Given the description of an element on the screen output the (x, y) to click on. 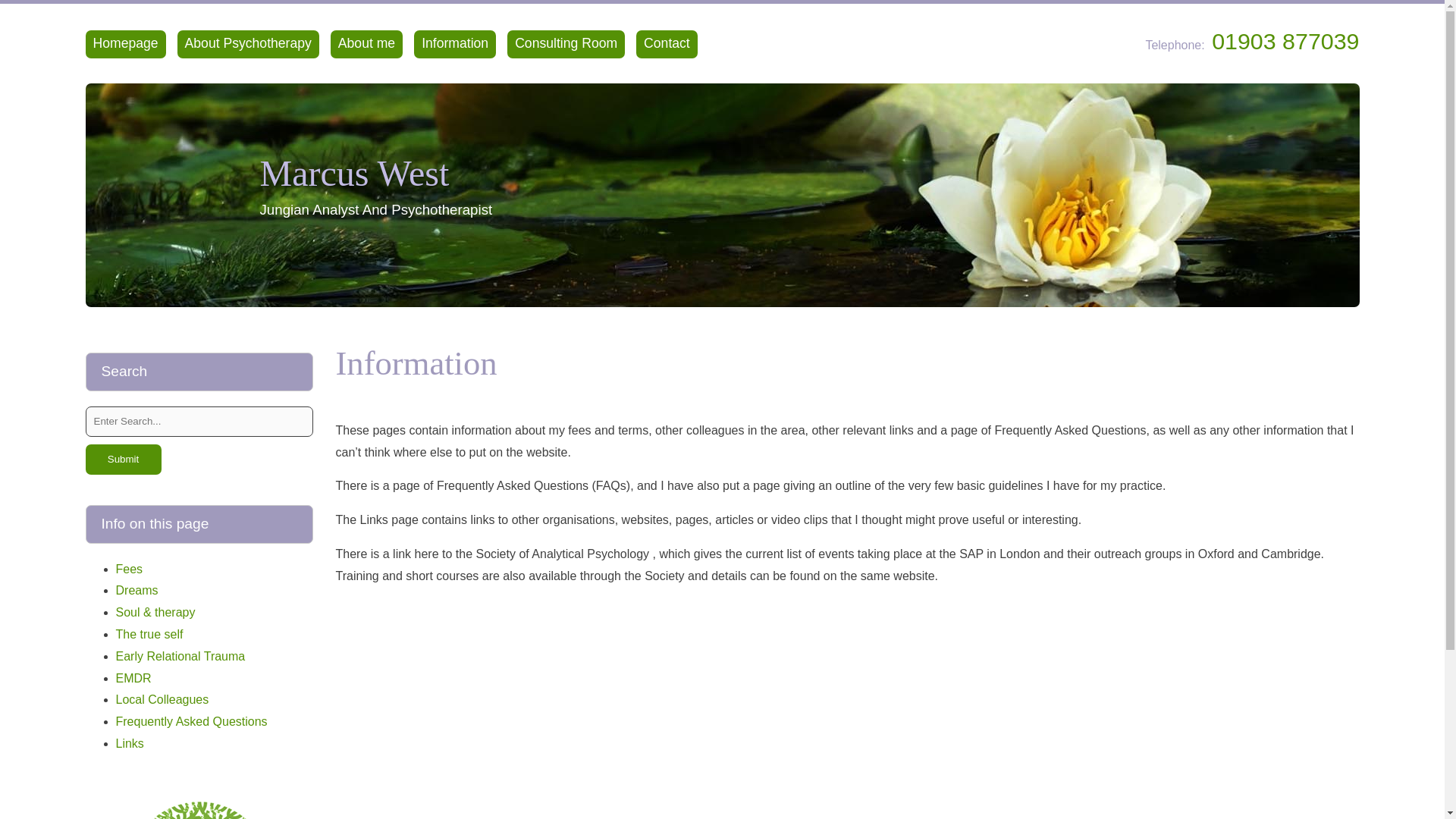
Submit (122, 459)
Fees (128, 568)
01903 877039 (1283, 41)
Information (454, 44)
EMDR (133, 677)
Homepage (124, 44)
Contact (666, 44)
Submit (122, 459)
Local Colleagues (161, 698)
Frequently Asked Questions (190, 721)
